Given the description of an element on the screen output the (x, y) to click on. 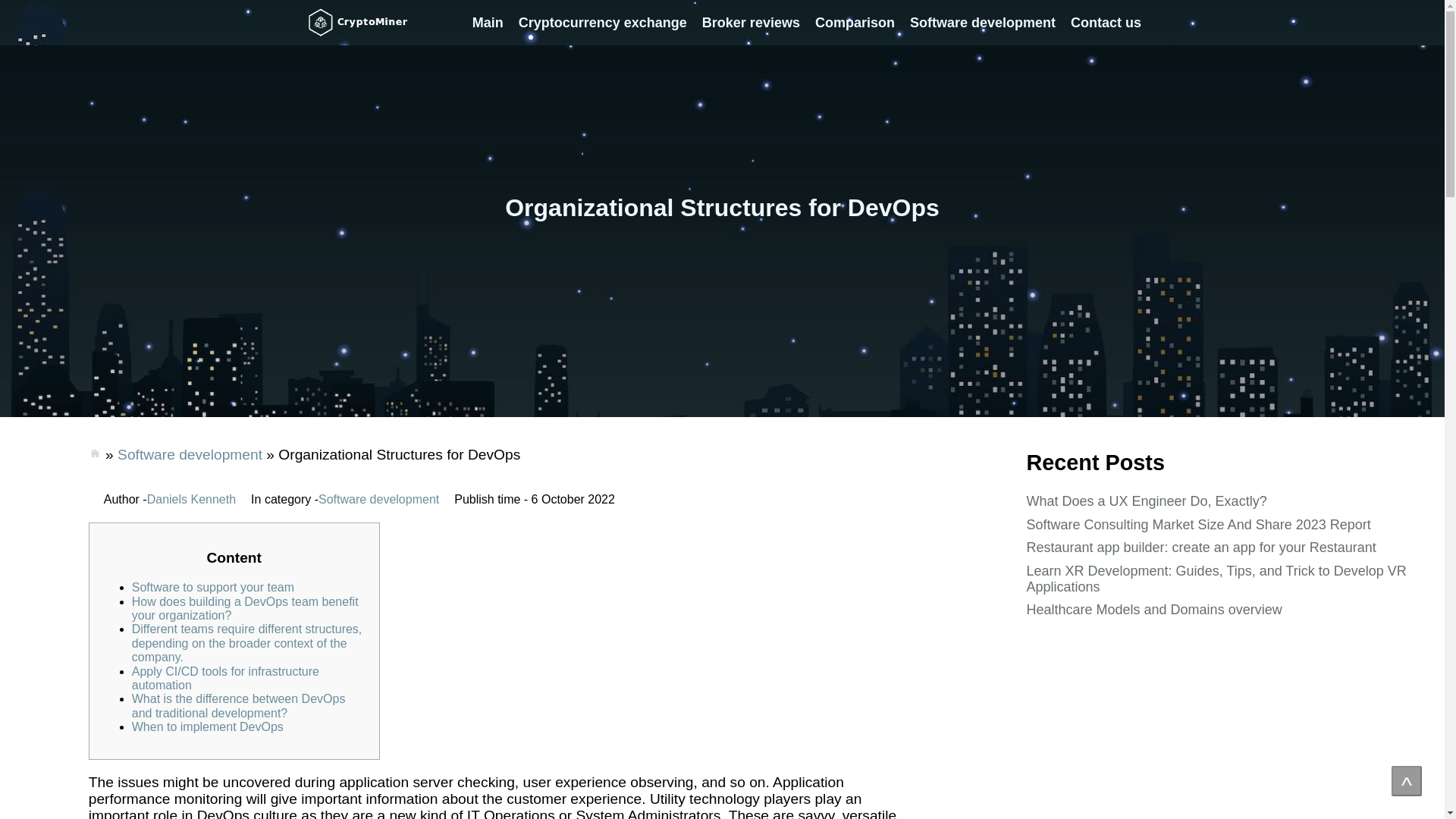
When to implement DevOps (207, 726)
Daniels Kenneth (191, 499)
Main (487, 22)
Software development (982, 22)
Software to support your team (213, 586)
Software development (378, 499)
Contact us (1105, 22)
Broker reviews (751, 22)
Comparison (855, 22)
How does building a DevOps team benefit your organization? (245, 608)
Cryptocurrency exchange (602, 22)
Go to top (1406, 780)
Software development (189, 454)
